Given the description of an element on the screen output the (x, y) to click on. 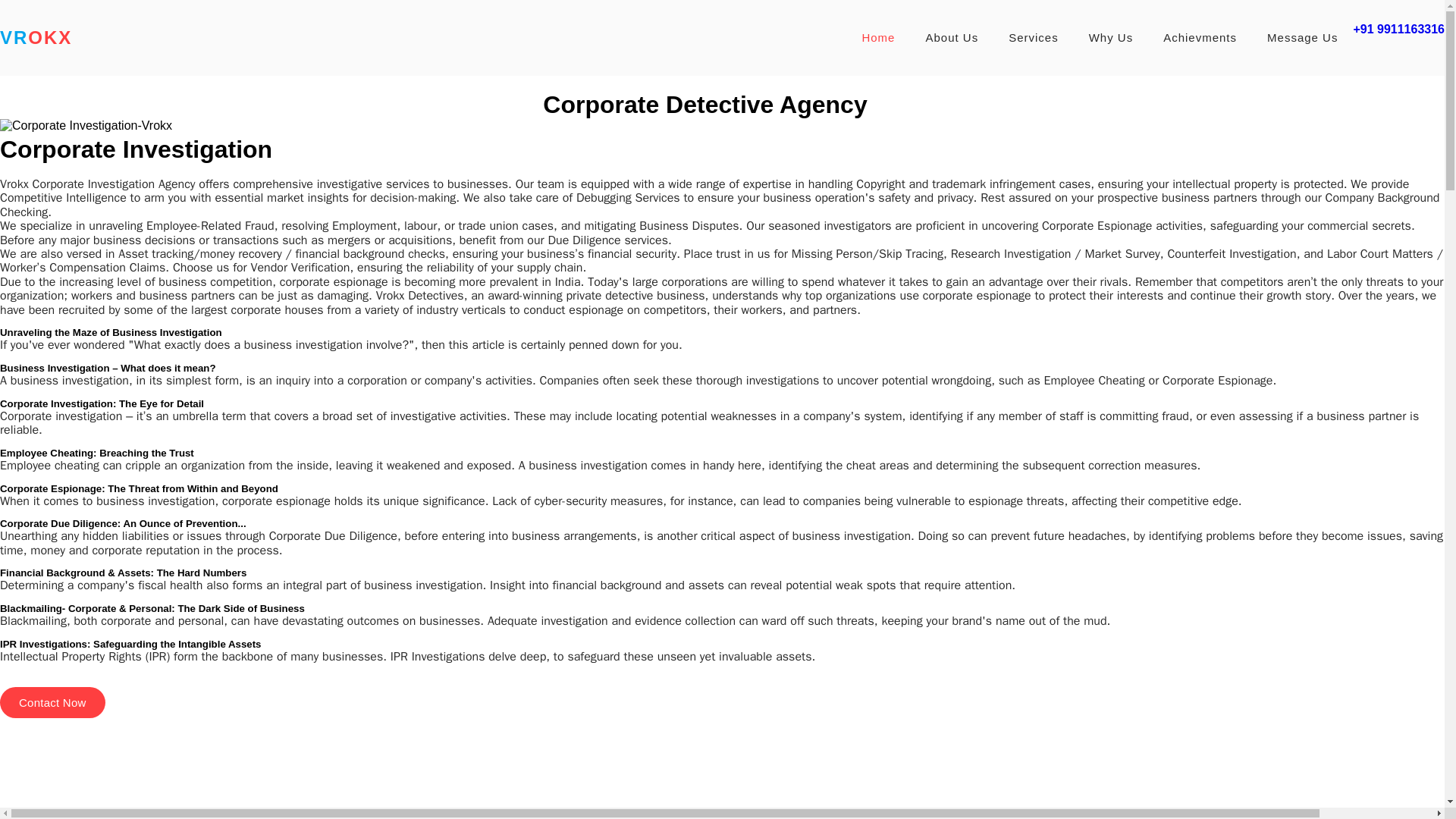
Achievments (1199, 37)
About Us (951, 37)
VROKX (35, 38)
Home (878, 37)
About Us (951, 37)
Home (877, 37)
Services (1033, 37)
Contact Now (52, 702)
Why Us (1111, 37)
Message Us (1302, 37)
